Given the description of an element on the screen output the (x, y) to click on. 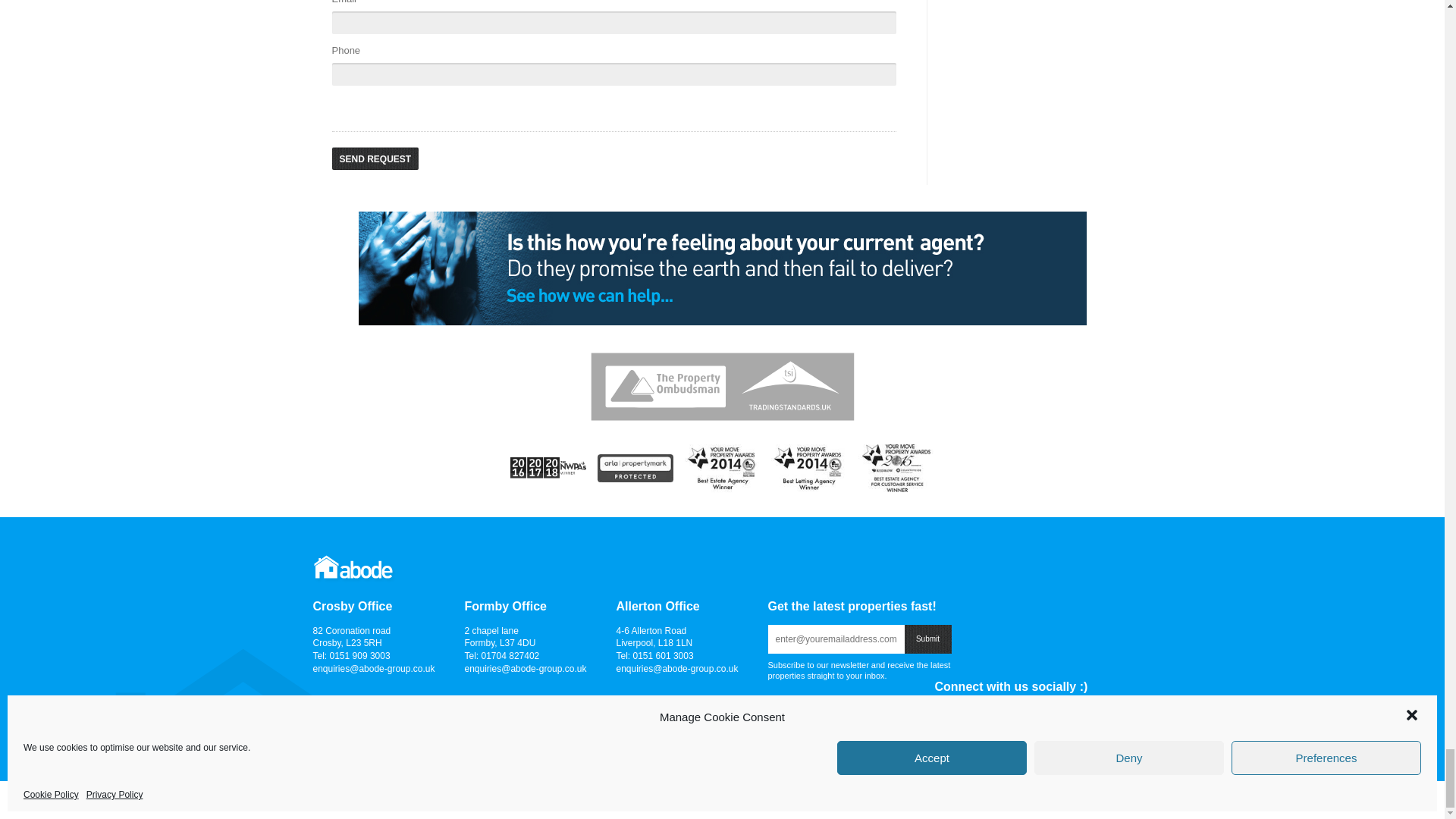
Send Request (375, 158)
Website design (1075, 799)
Send Request (375, 158)
